Given the description of an element on the screen output the (x, y) to click on. 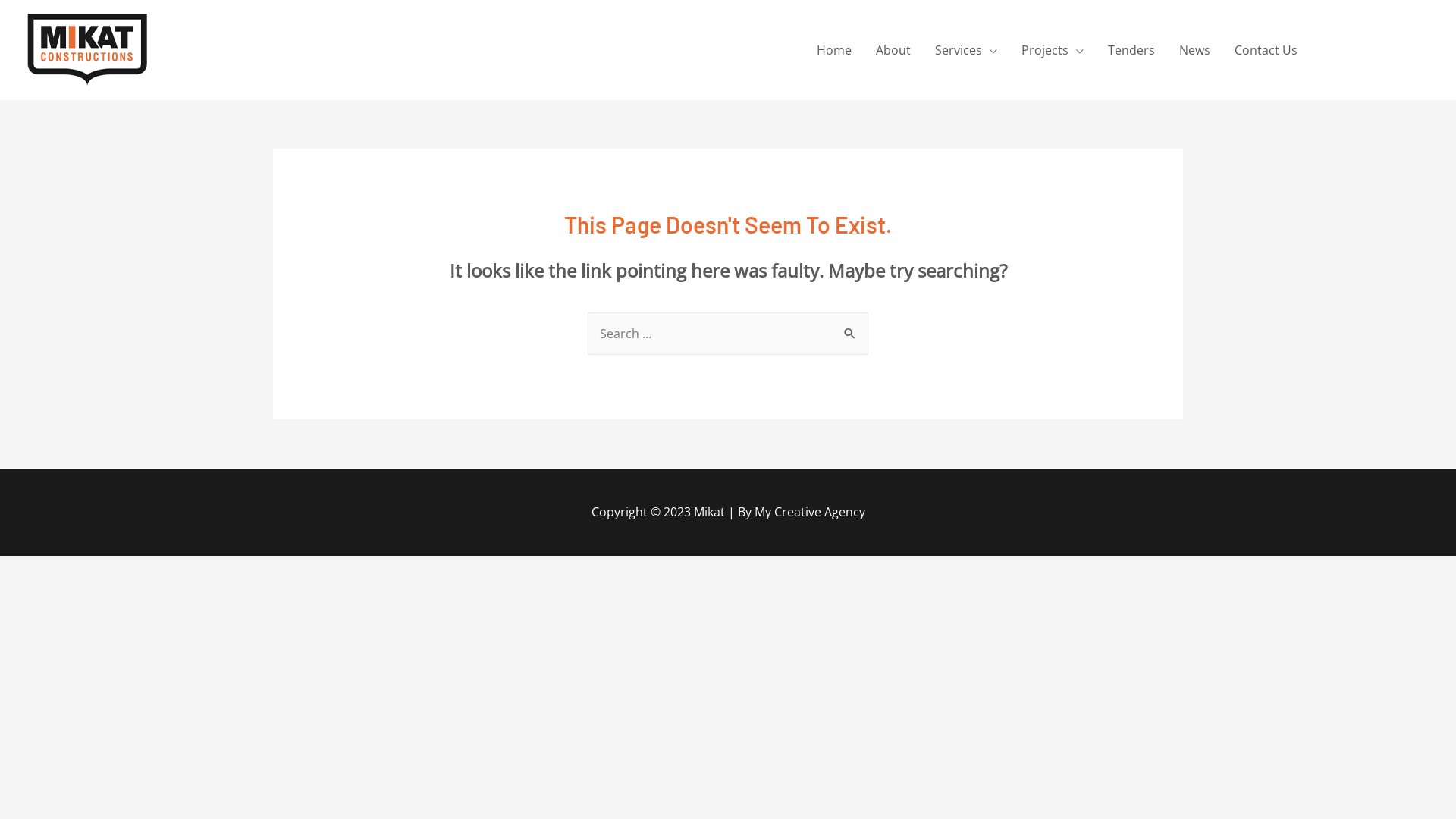
Services Element type: text (965, 49)
About Element type: text (892, 49)
Home Element type: text (833, 49)
Projects Element type: text (1052, 49)
News Element type: text (1194, 49)
Search Element type: text (851, 327)
Tenders Element type: text (1131, 49)
Contact Us Element type: text (1265, 49)
